Given the description of an element on the screen output the (x, y) to click on. 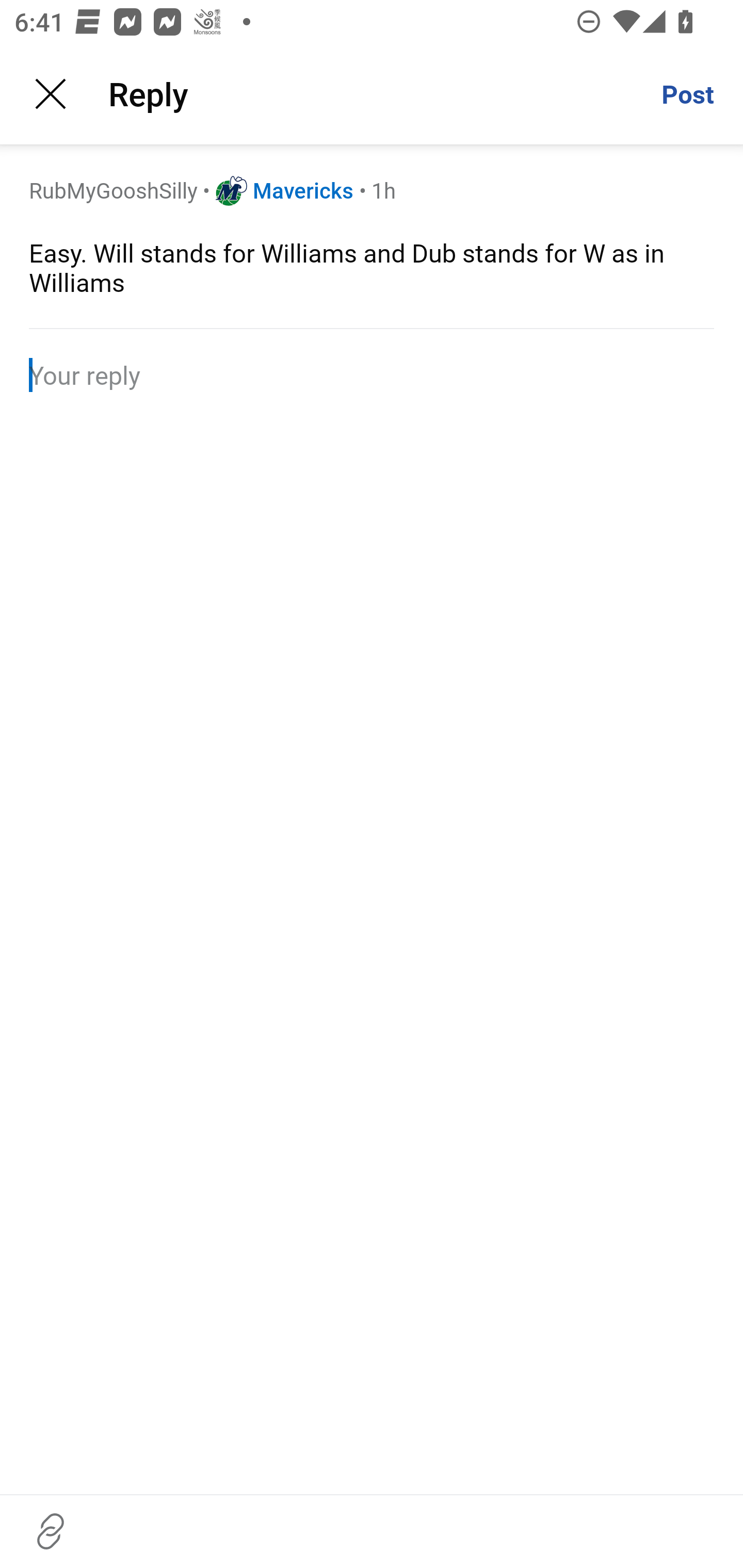
Close (50, 93)
Post (687, 94)
Your reply (371, 374)
Insert a link (50, 1530)
